Given the description of an element on the screen output the (x, y) to click on. 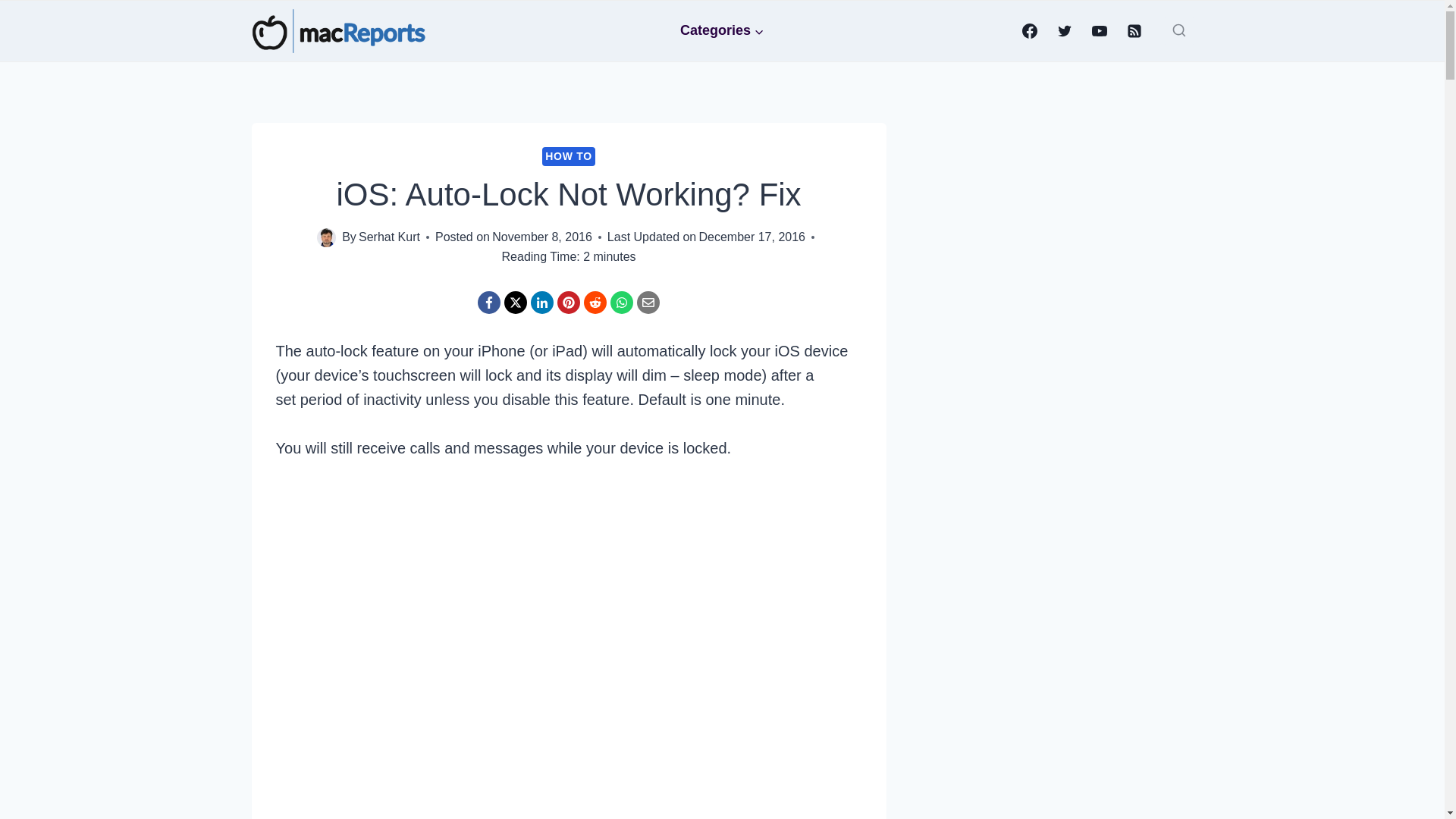
Categories (722, 30)
Serhat Kurt (389, 236)
HOW TO (568, 156)
